Given the description of an element on the screen output the (x, y) to click on. 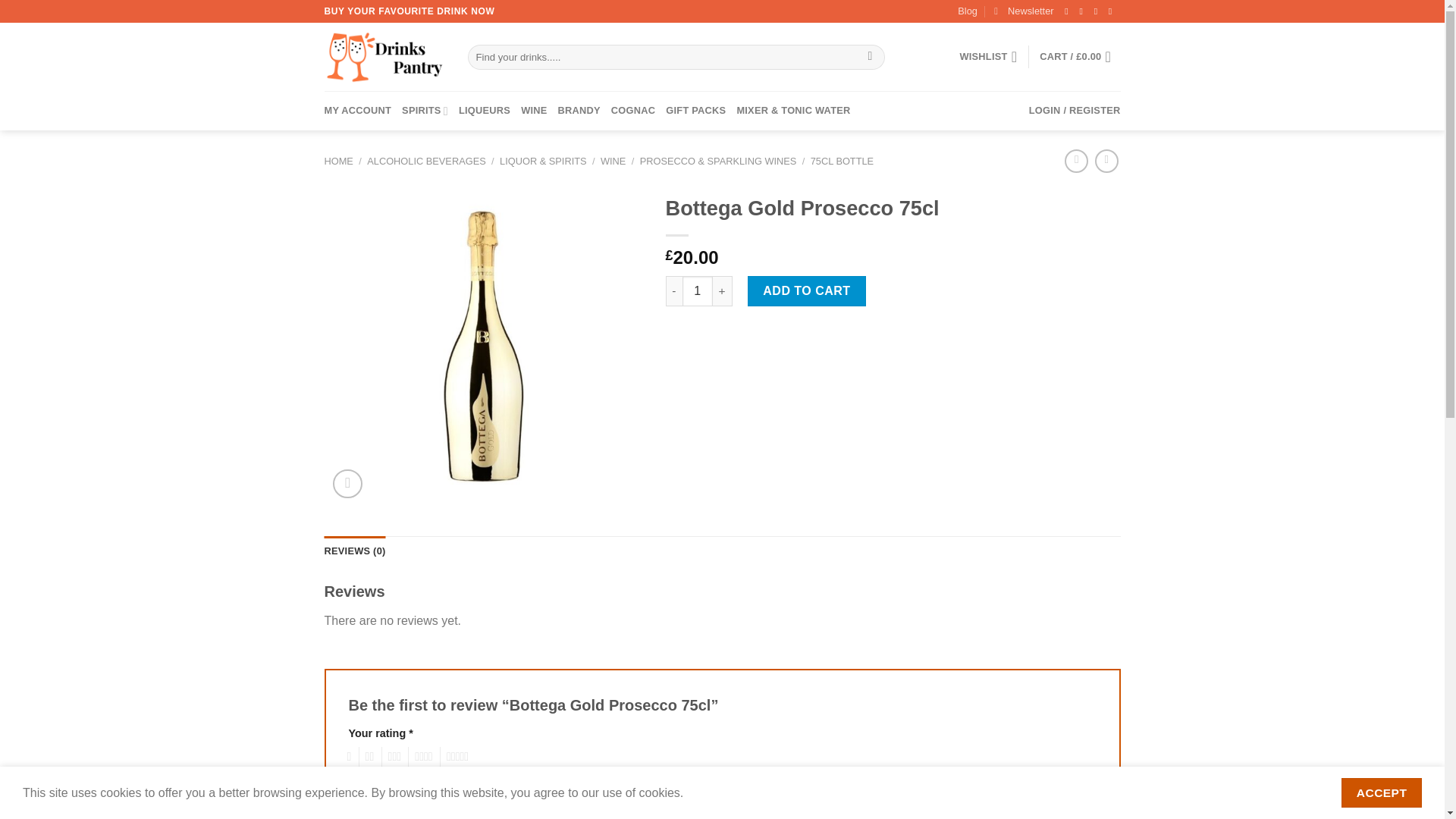
Newsletter (1023, 11)
BRANDY (578, 110)
HOME (338, 161)
Zoom (347, 483)
SPIRITS (424, 110)
MY ACCOUNT (357, 110)
Cart (1079, 56)
Drinkspantry - Largest Online Alcohol Supplier (384, 56)
Search (869, 57)
COGNAC (633, 110)
